Given the description of an element on the screen output the (x, y) to click on. 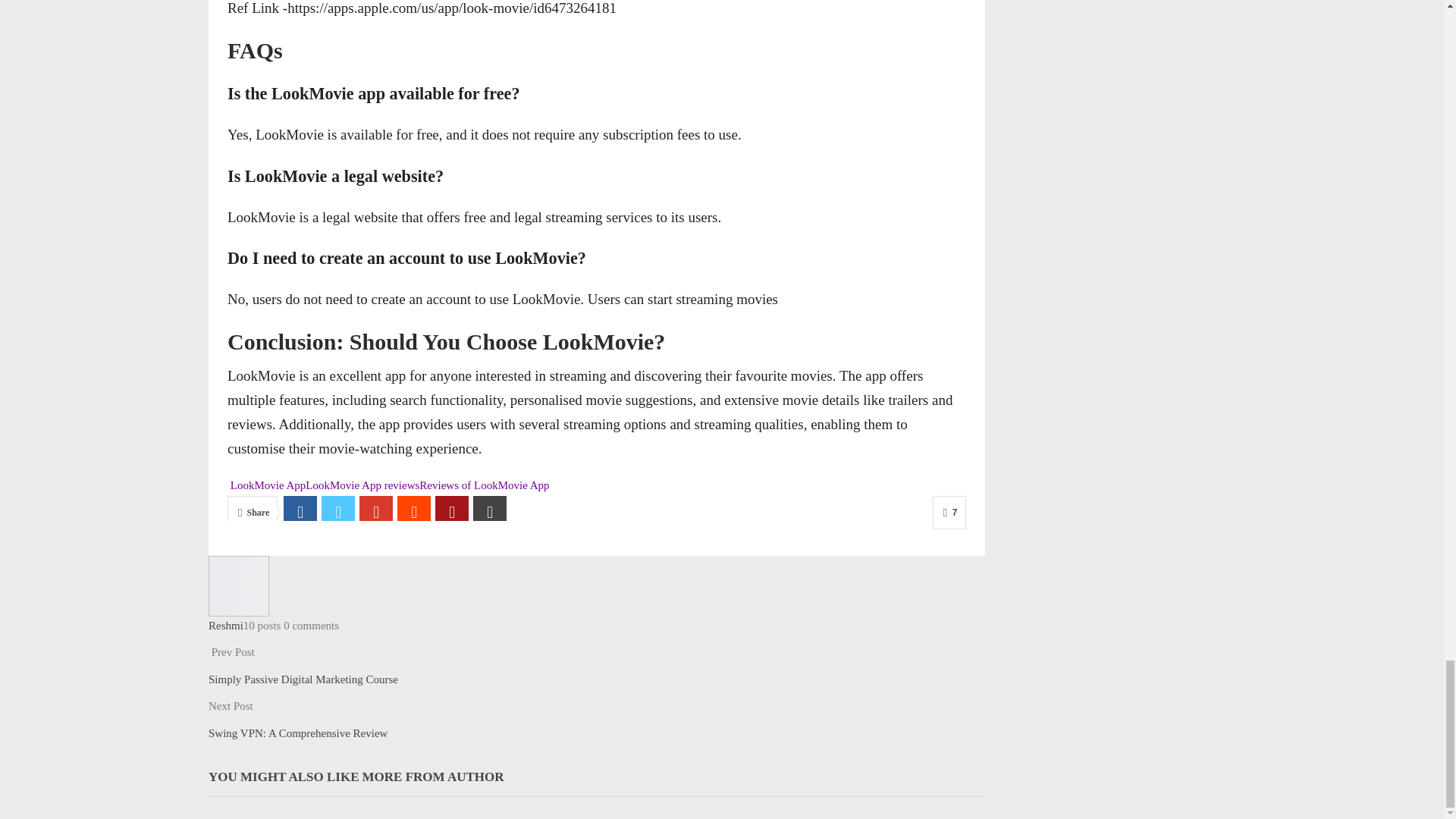
Browse Author Articles (238, 584)
